Given the description of an element on the screen output the (x, y) to click on. 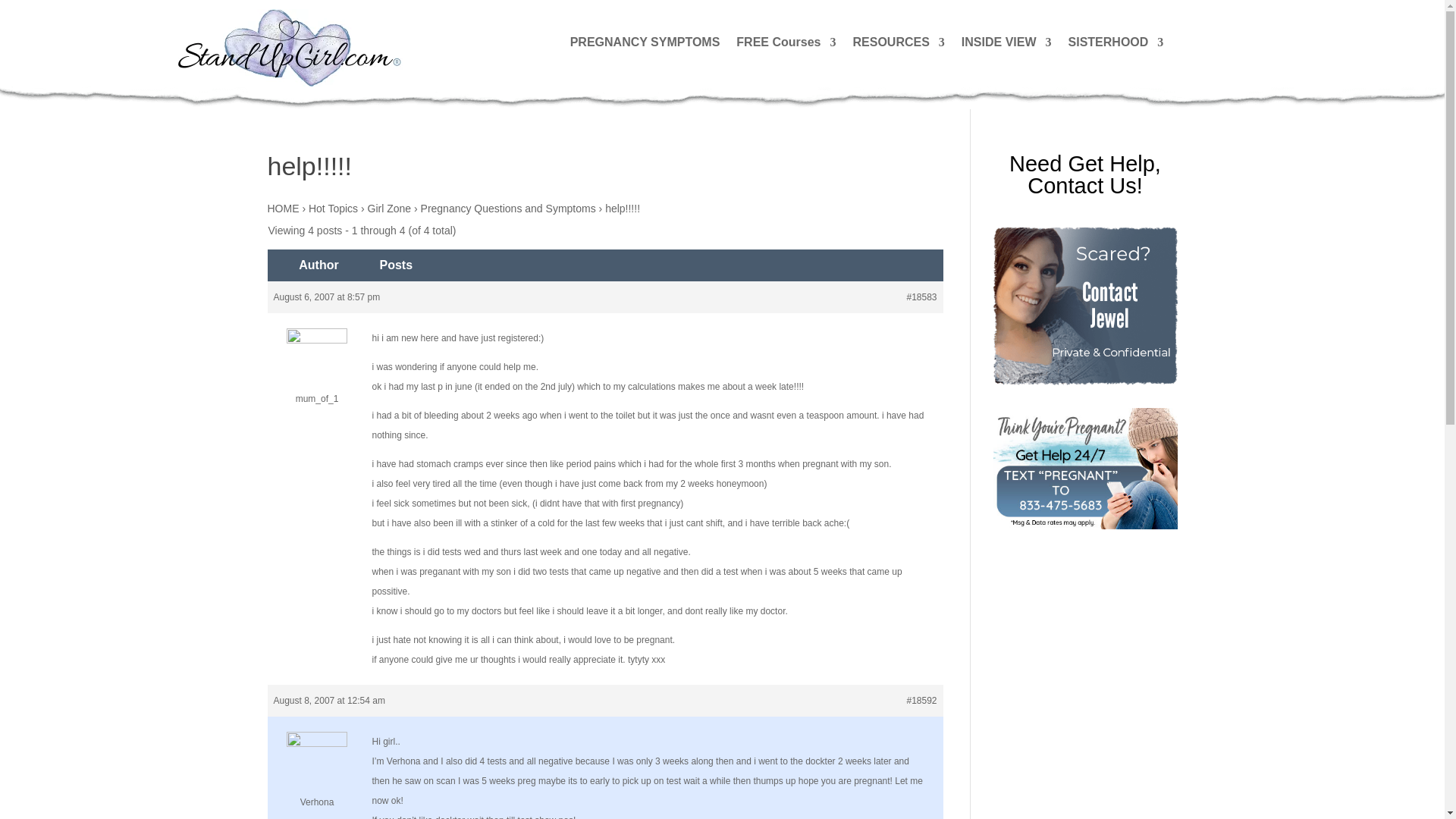
PREGNANCY SYMPTOMS (645, 45)
SISTERHOOD (1115, 45)
FREE Courses (785, 45)
INSIDE VIEW (1005, 45)
standupgirl.com (288, 47)
RESOURCES (897, 45)
